Given the description of an element on the screen output the (x, y) to click on. 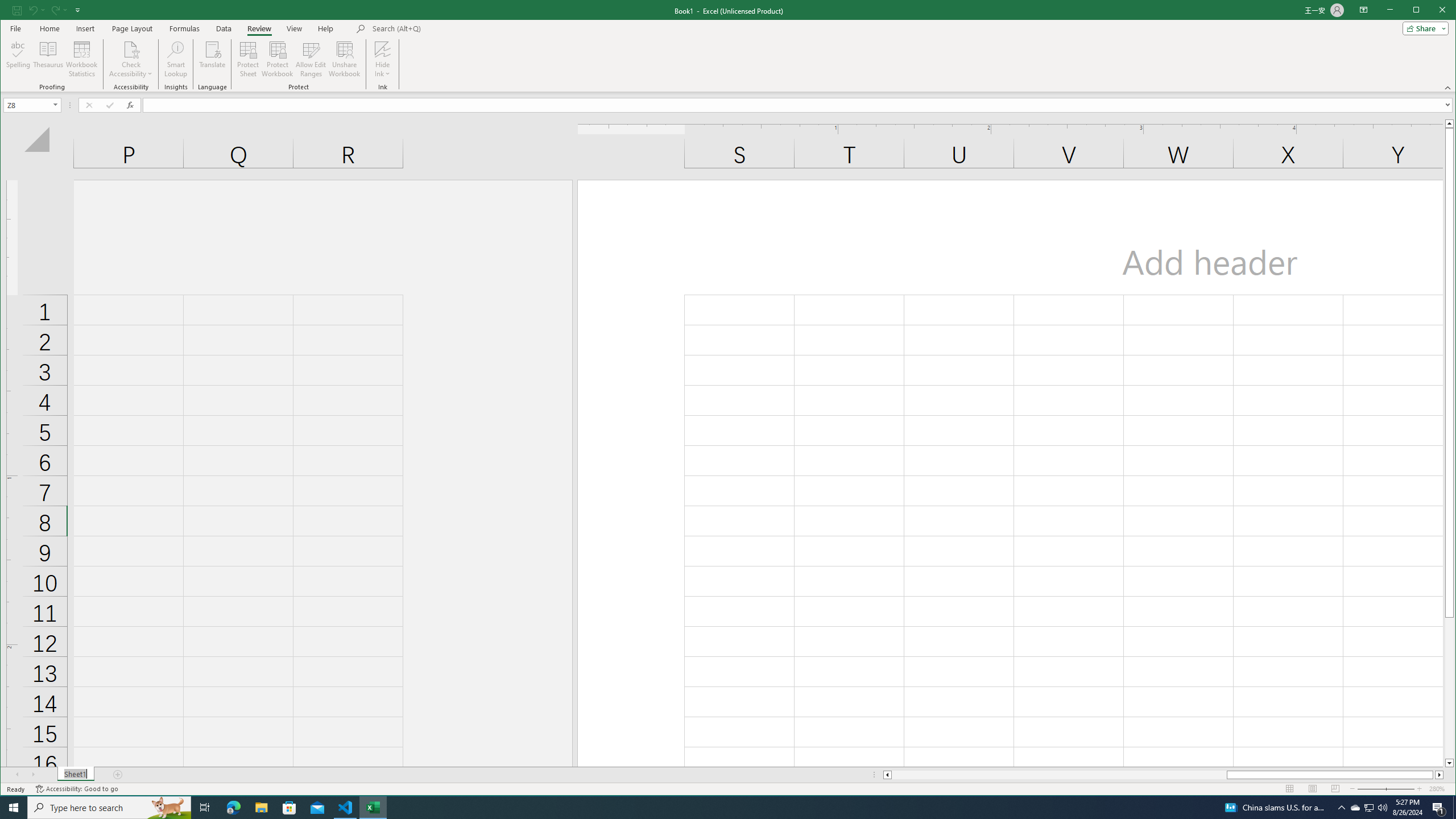
Q2790: 100% (1382, 807)
Column left (886, 774)
Unshare Workbook (344, 59)
Check Accessibility (130, 59)
Hide Ink (382, 48)
Translate (212, 59)
Zoom In (1419, 788)
Accessibility Checker Accessibility: Good to go (1368, 807)
Page Layout (76, 788)
Show desktop (132, 28)
Task View (1454, 807)
Close (204, 807)
Add Sheet (1444, 11)
Start (118, 774)
